Given the description of an element on the screen output the (x, y) to click on. 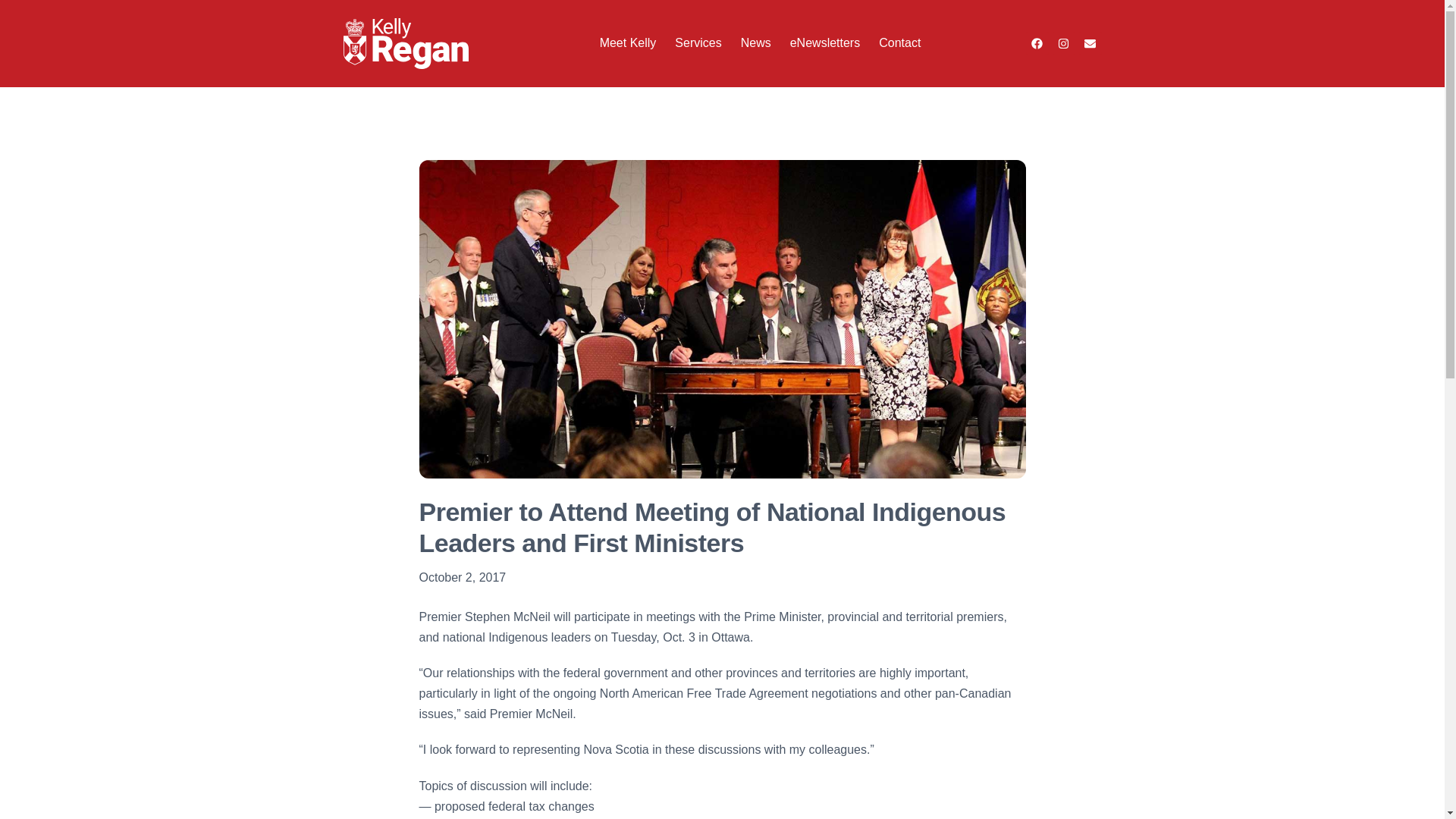
Meet Kelly (627, 43)
October 2, 2017 (462, 577)
eNewsletters (825, 43)
News (756, 43)
Contact (899, 43)
Services (697, 43)
